Given the description of an element on the screen output the (x, y) to click on. 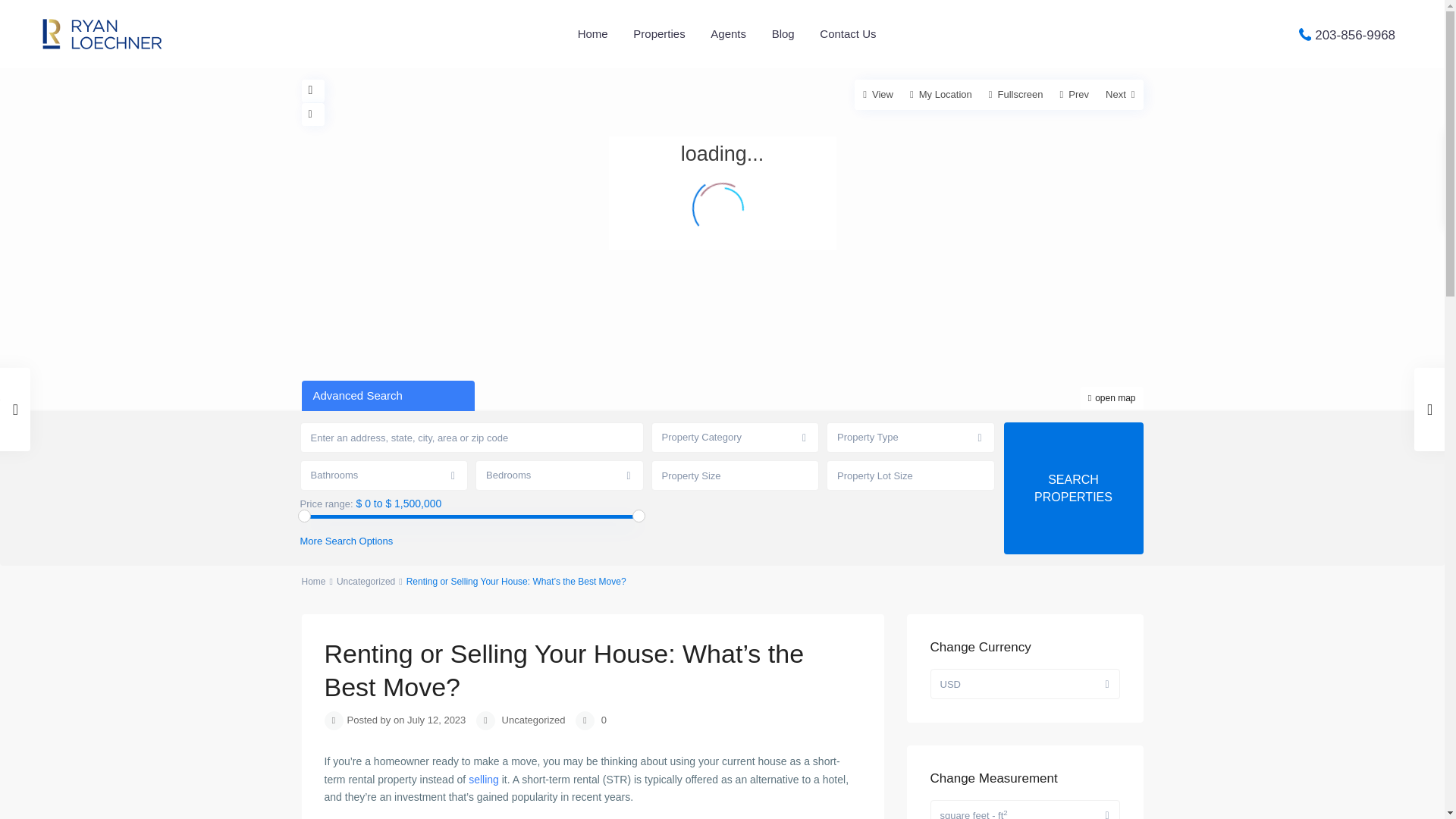
Blog (783, 33)
selling (483, 779)
Home (593, 33)
203-856-9968 (1354, 34)
Uncategorized (534, 719)
Properties (658, 33)
Uncategorized (365, 581)
Agents (727, 33)
SEARCH PROPERTIES (1073, 488)
SEARCH PROPERTIES (1073, 488)
Home (313, 581)
Contact Us (847, 33)
